Given the description of an element on the screen output the (x, y) to click on. 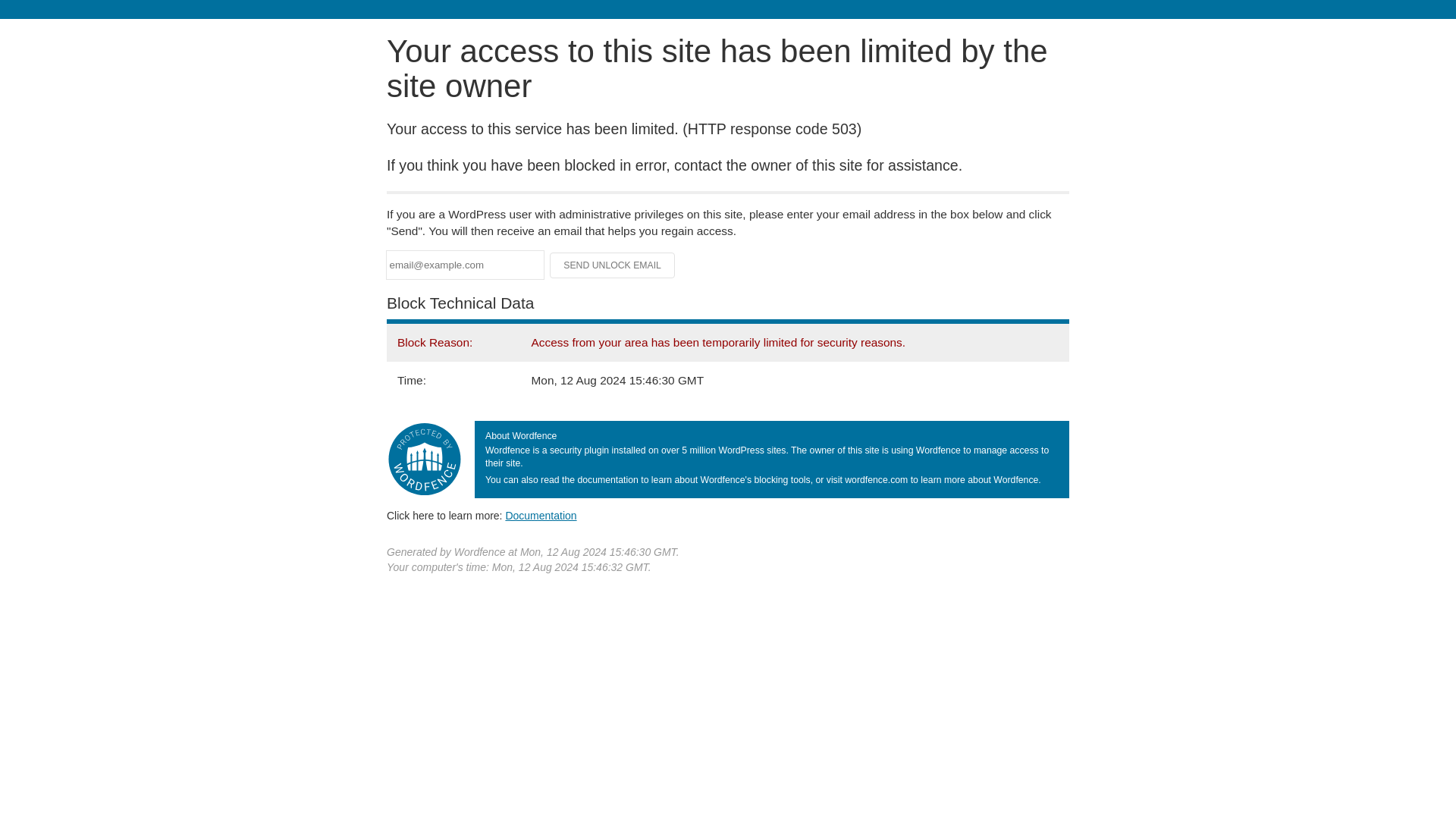
Send Unlock Email (612, 265)
Send Unlock Email (612, 265)
Documentation (540, 515)
